Given the description of an element on the screen output the (x, y) to click on. 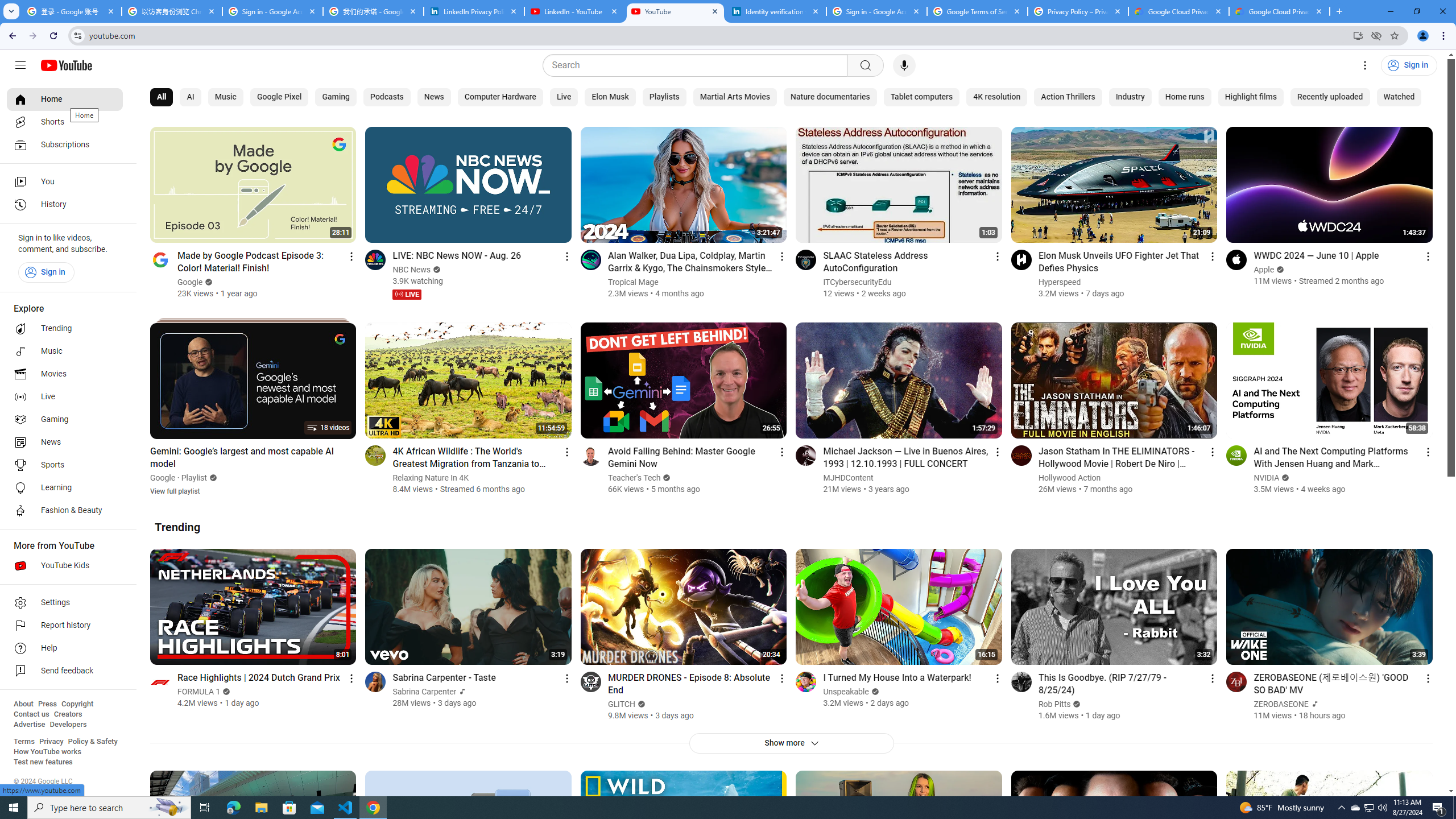
Trending (177, 526)
Music (64, 350)
Press (46, 703)
Identity verification via Persona | LinkedIn Help (775, 11)
Shorts (64, 121)
MJHDContent (848, 477)
Apple (1264, 269)
Send feedback (64, 671)
Live (563, 97)
